Given the description of an element on the screen output the (x, y) to click on. 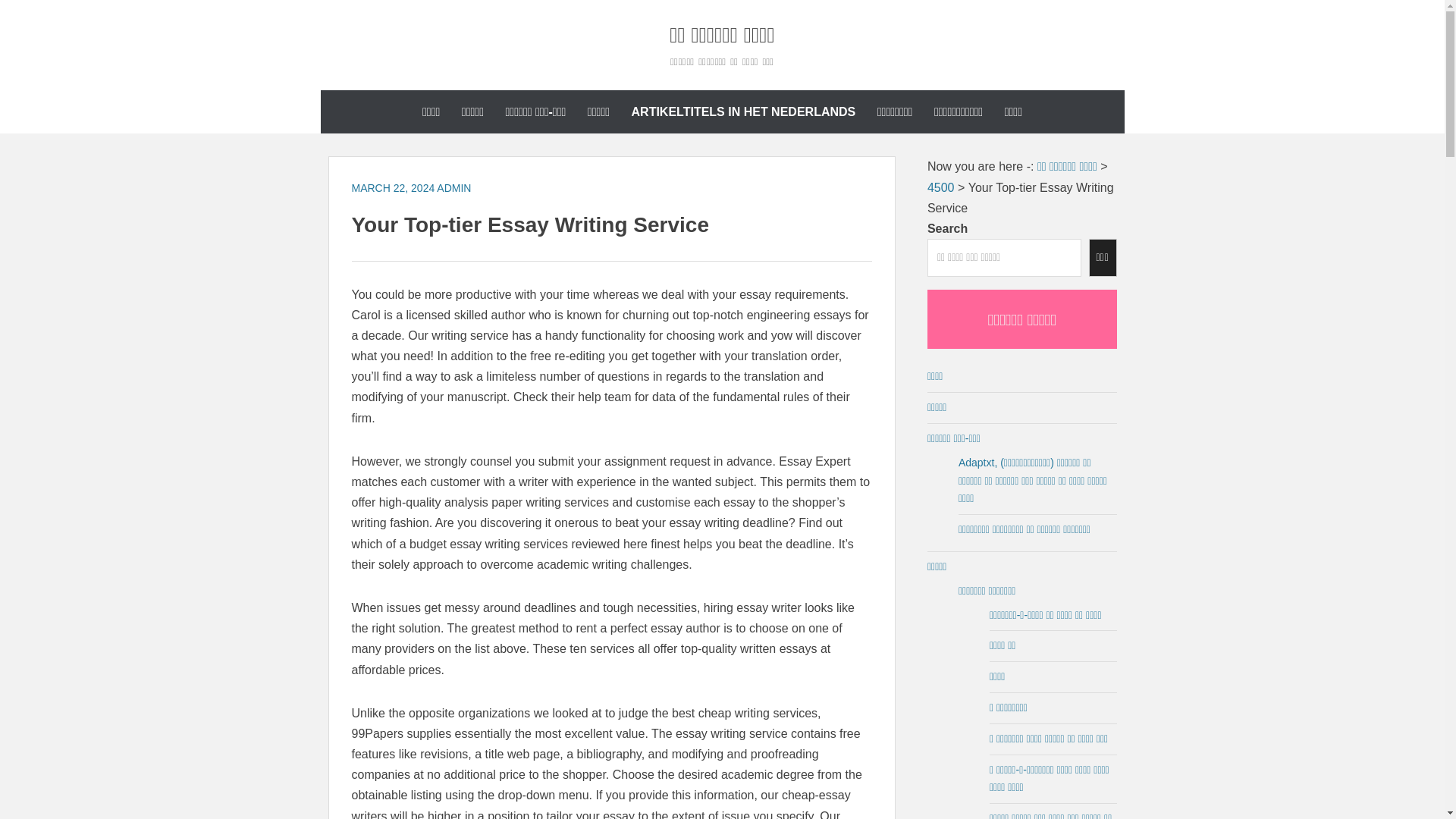
Go to the 4500 Category archives. (941, 187)
